Given the description of an element on the screen output the (x, y) to click on. 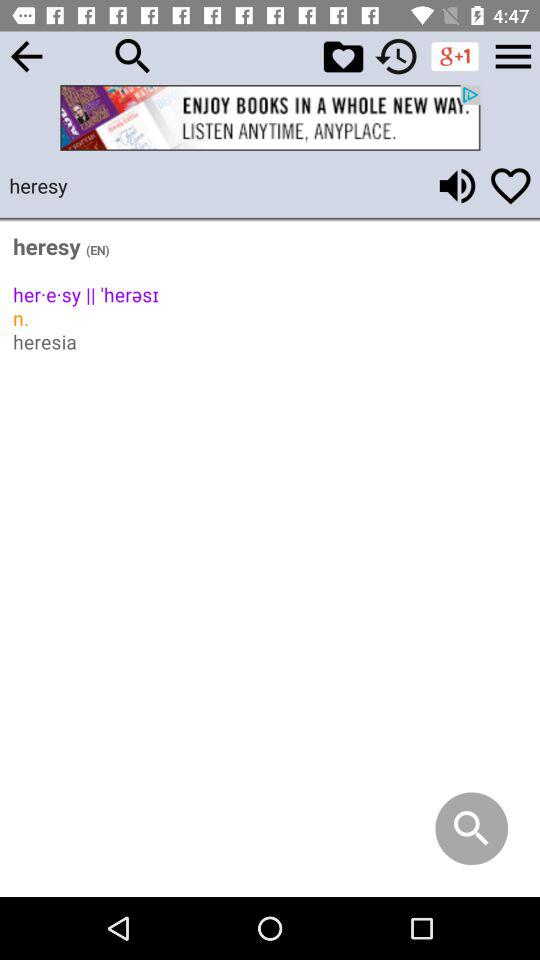
search (133, 56)
